Given the description of an element on the screen output the (x, y) to click on. 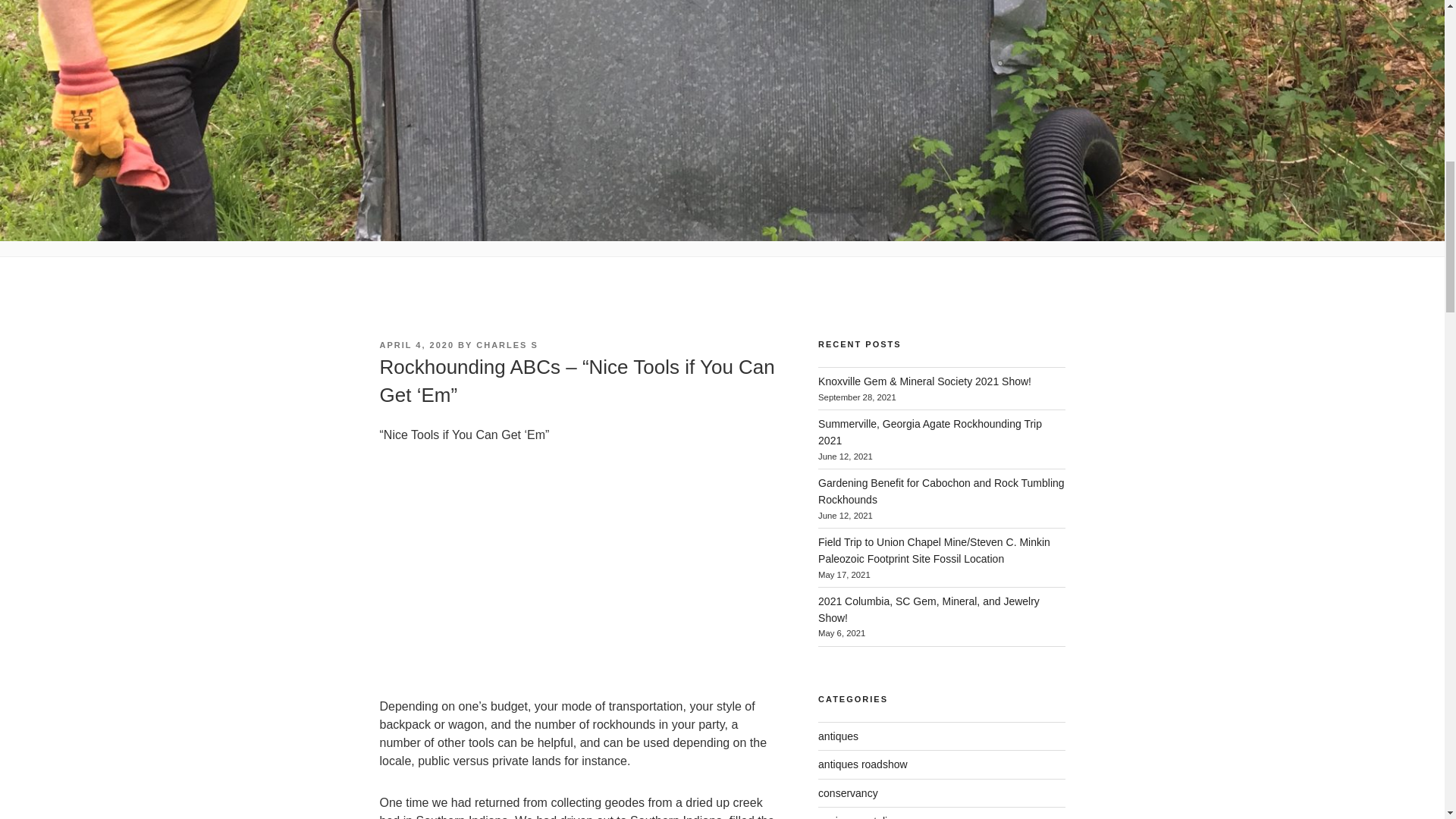
APRIL 4, 2020 (416, 344)
CHARLES S (507, 344)
